Given the description of an element on the screen output the (x, y) to click on. 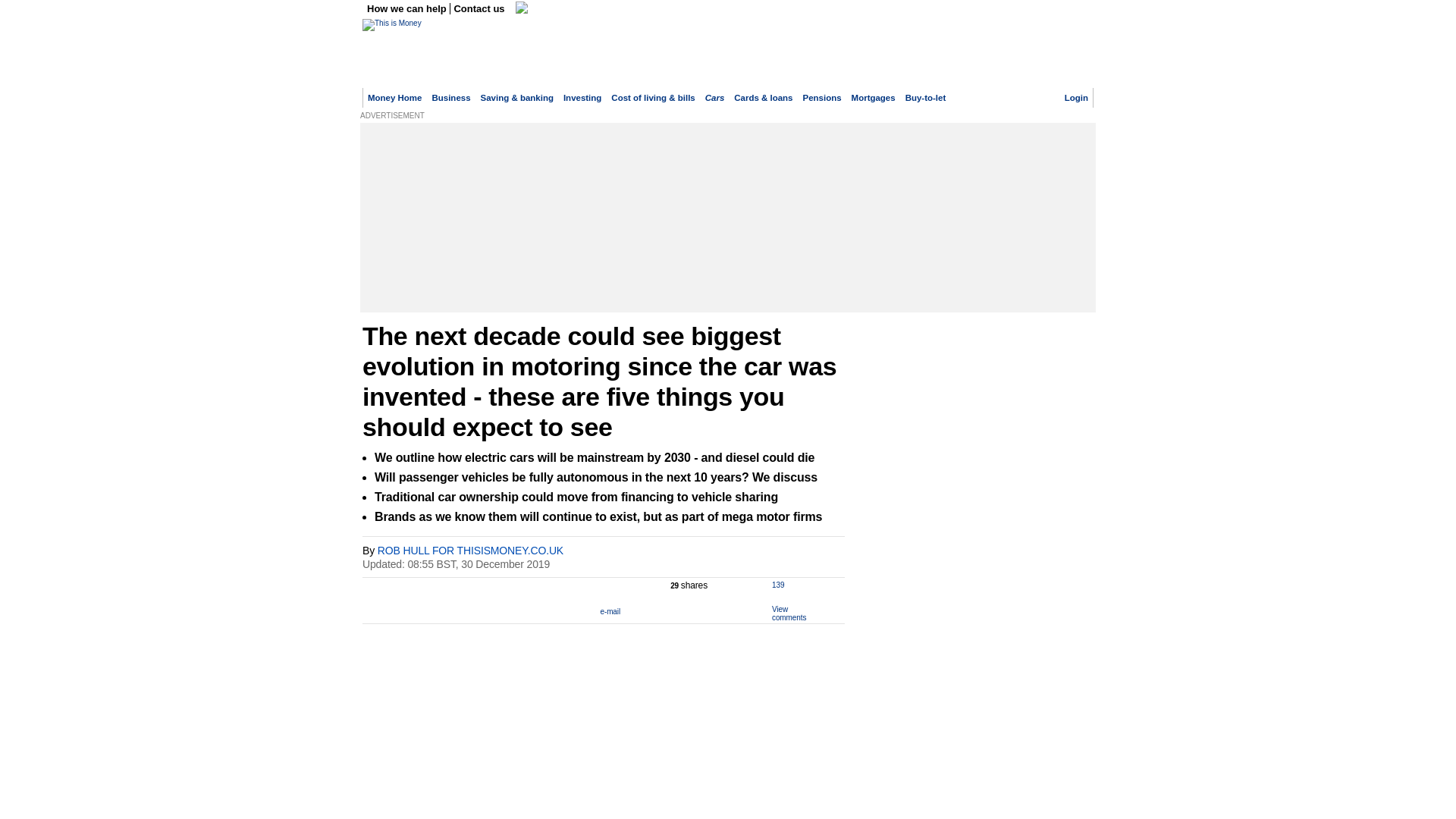
Contact us (479, 8)
Investing (582, 97)
Money Home (395, 97)
Mortgages (873, 97)
Cars (714, 97)
Login (1075, 97)
How we can help (407, 8)
Buy-to-let (925, 97)
Pensions (822, 97)
Business (450, 97)
